Given the description of an element on the screen output the (x, y) to click on. 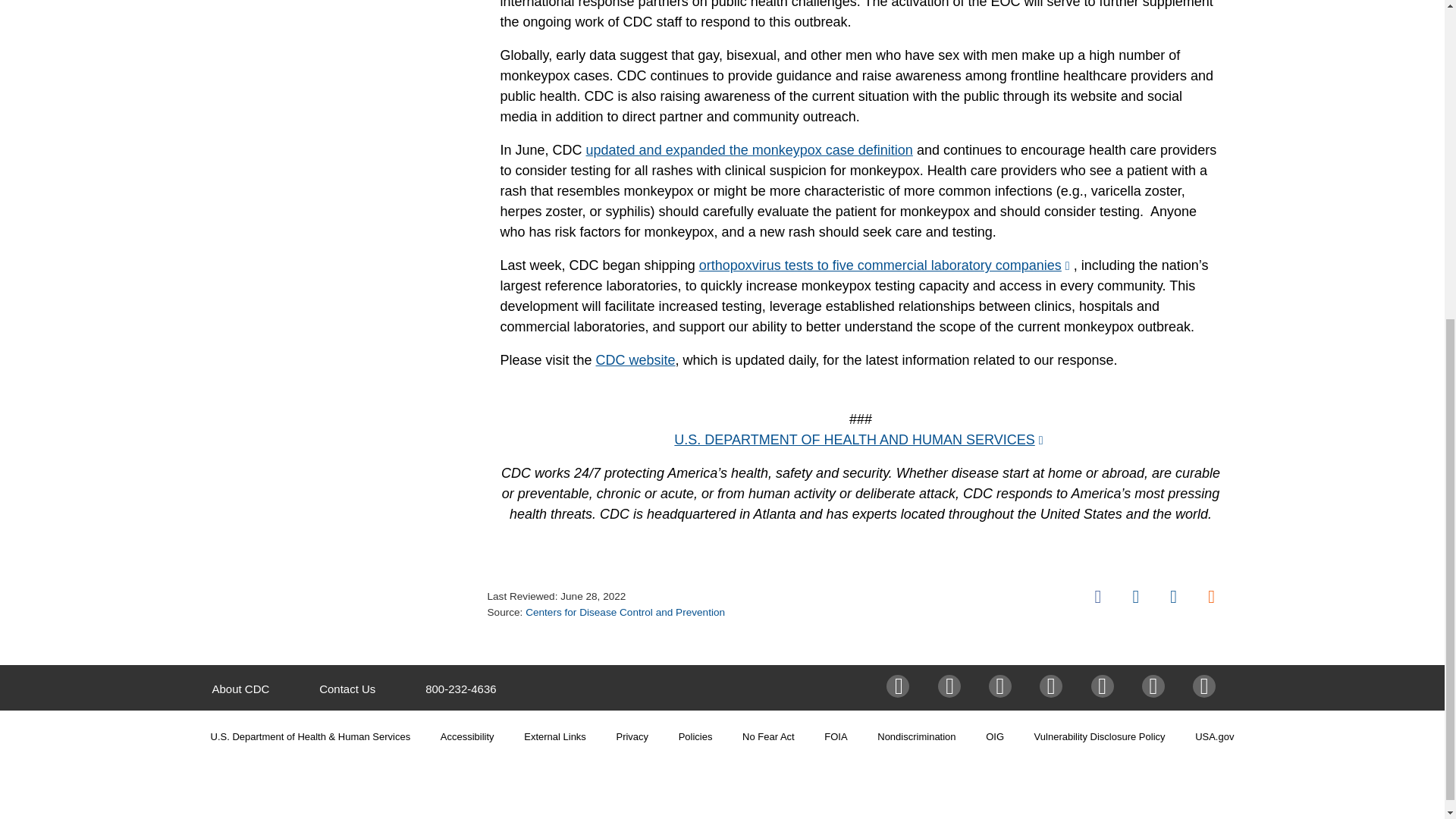
orthopoxvirus tests to five commercial laboratory companies (886, 264)
About CDC (240, 688)
U.S. DEPARTMENT OF HEALTH AND HUMAN SERVICES (860, 439)
Facebook (1097, 596)
Share to Facebook (1097, 596)
Embed this Page (1211, 596)
Share to Twitter (1135, 596)
Twitter (1135, 596)
800-232-4636 (460, 688)
Snapchat (1205, 685)
Instagram (1001, 685)
Centers for Disease Control and Prevention (625, 612)
updated and expanded the monkeypox case definition (749, 150)
Pinterest (1155, 685)
Twitter (951, 685)
